Given the description of an element on the screen output the (x, y) to click on. 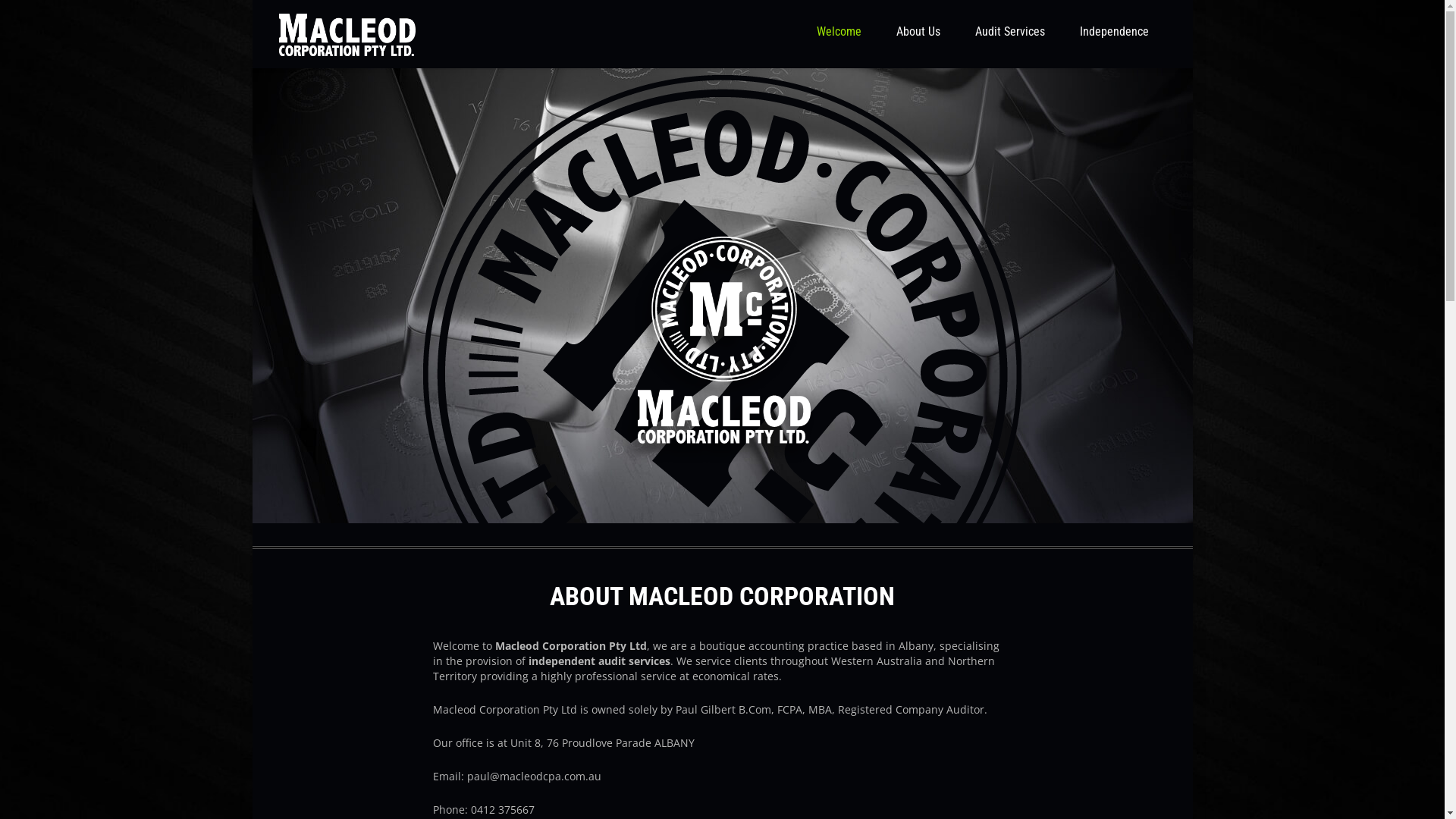
Welcome Element type: text (838, 32)
Independence Element type: text (1113, 32)
About Us Element type: text (917, 32)
Macleod Corporation Pty Ltd Independent Auditors Element type: hover (347, 34)
Audit Services Element type: text (1009, 32)
